Given the description of an element on the screen output the (x, y) to click on. 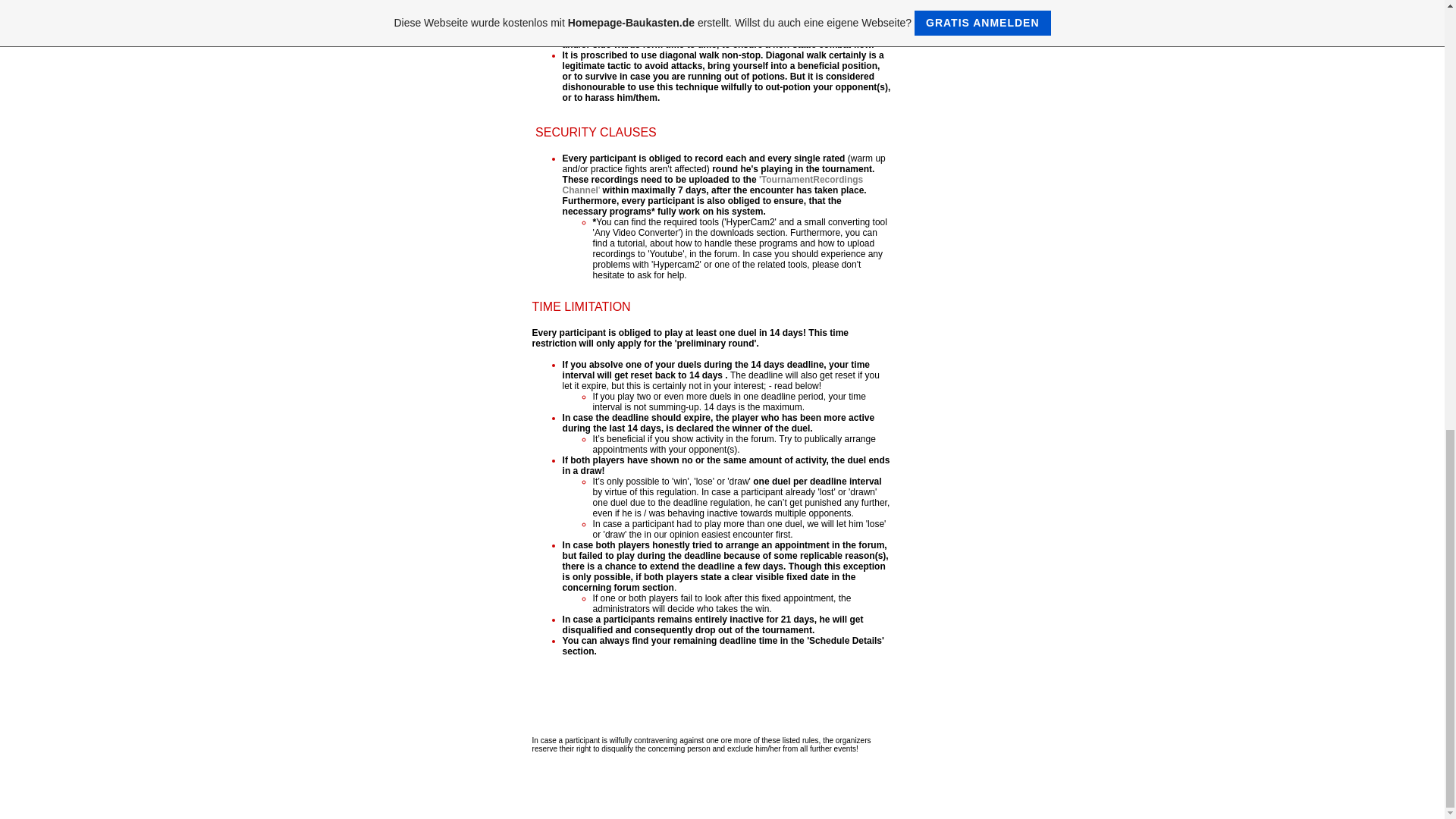
'TournamentRecordings Channel'  (712, 184)
